Given the description of an element on the screen output the (x, y) to click on. 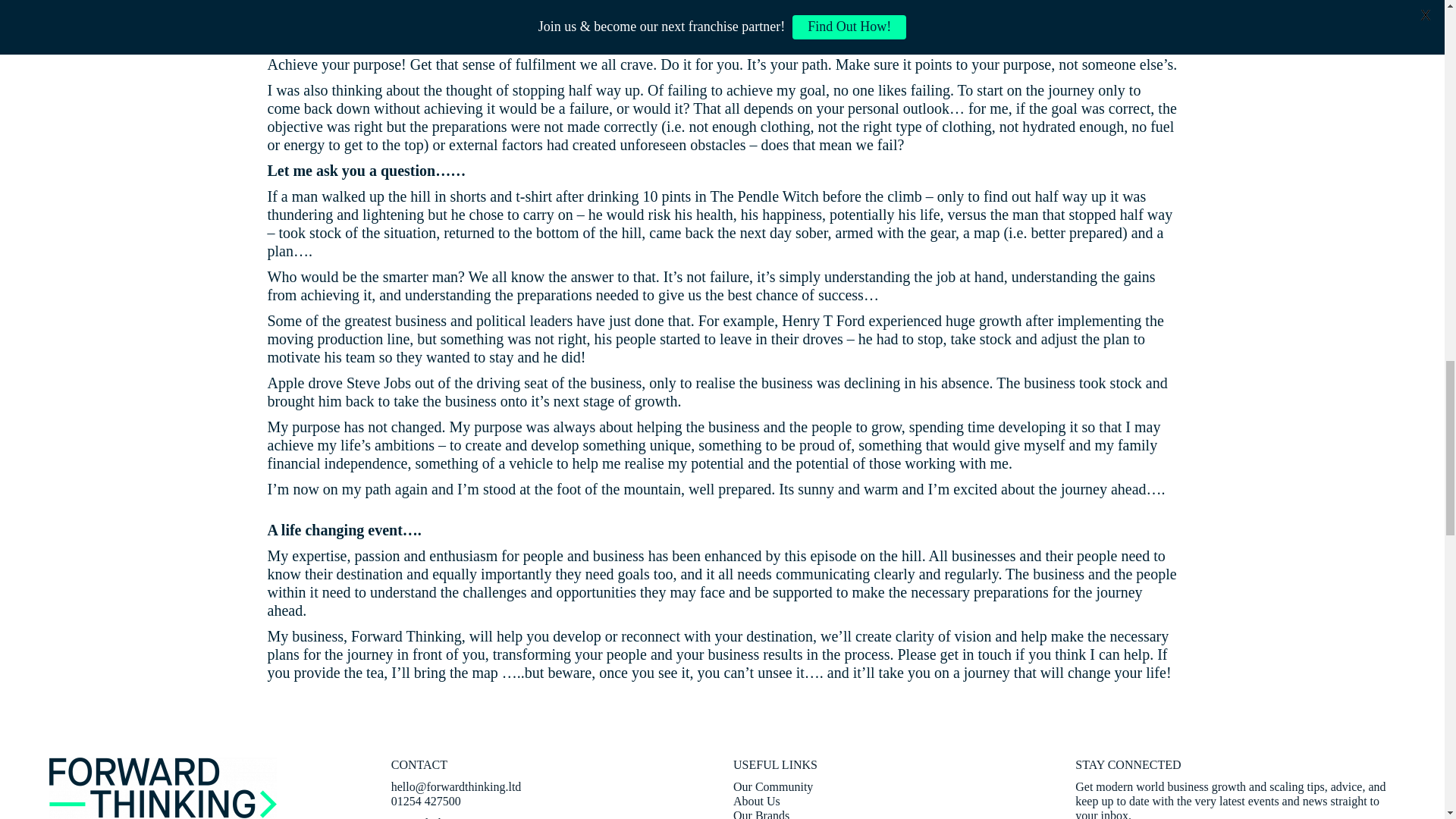
Our Community (772, 786)
Our Brands (761, 814)
About Us (756, 800)
